Given the description of an element on the screen output the (x, y) to click on. 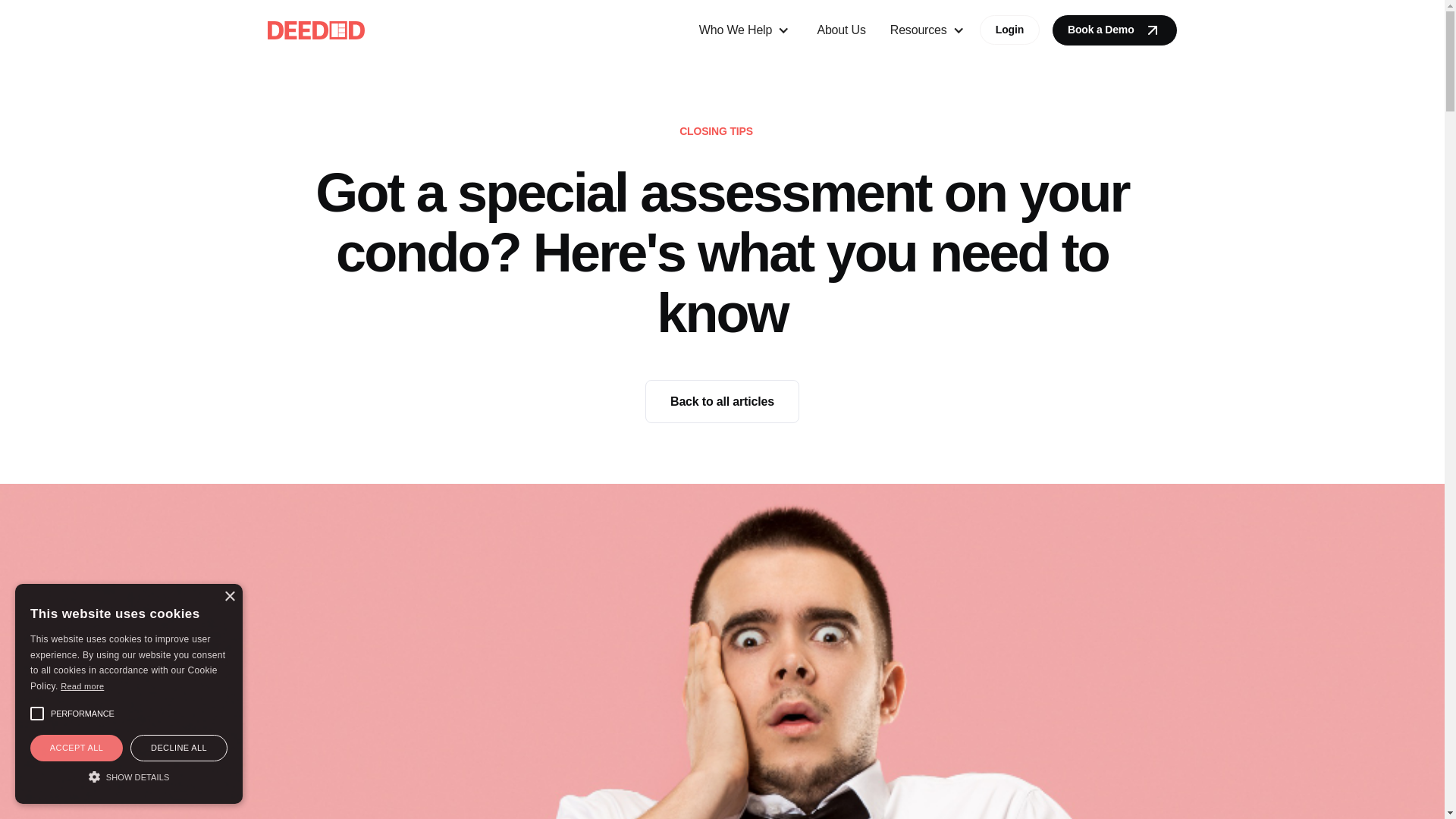
Book a Demo (1113, 29)
About Us (841, 29)
CLOSING TIPS (715, 130)
Login (1009, 30)
Back to all articles (722, 401)
